Given the description of an element on the screen output the (x, y) to click on. 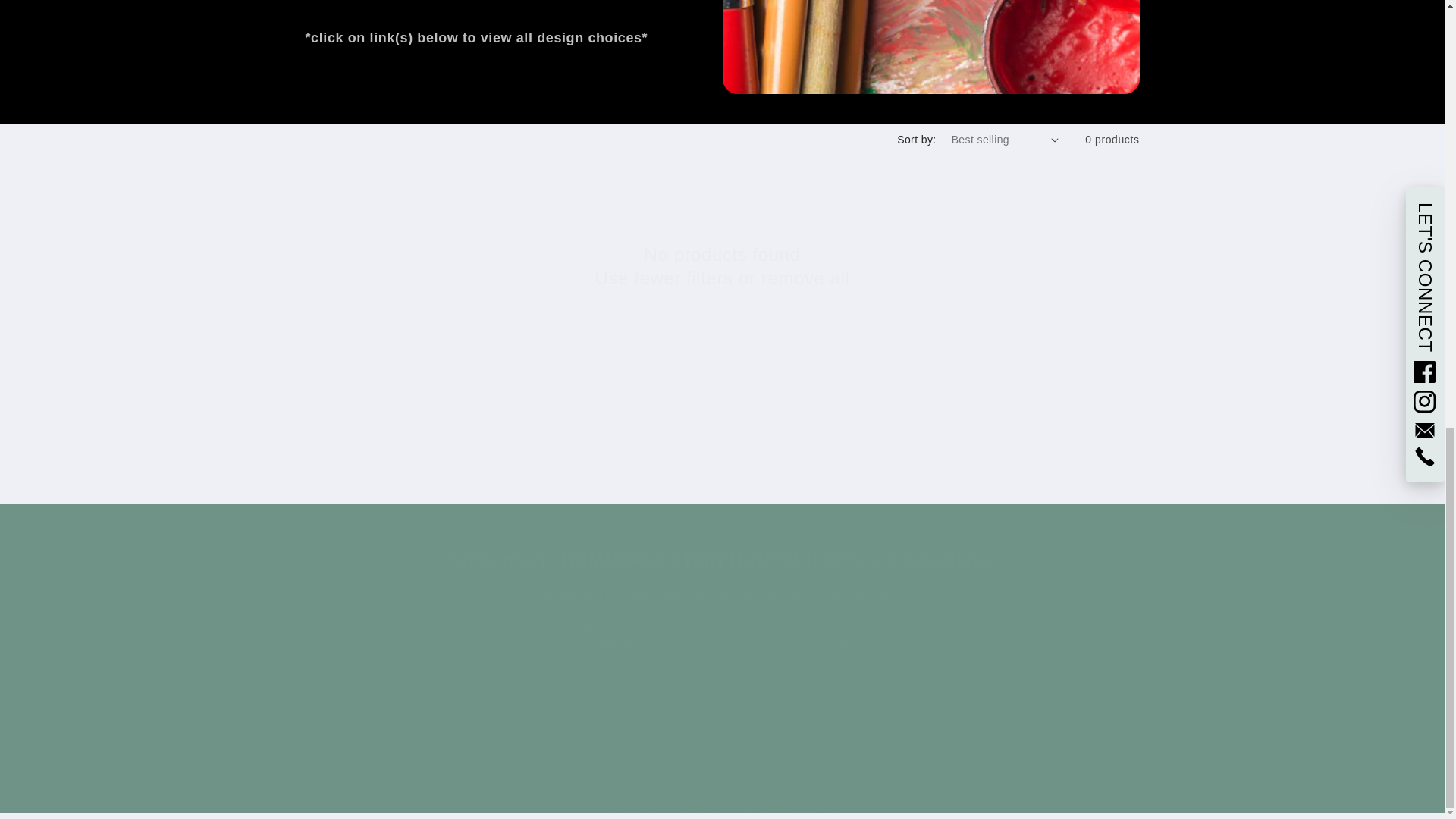
Email (722, 642)
